Given the description of an element on the screen output the (x, y) to click on. 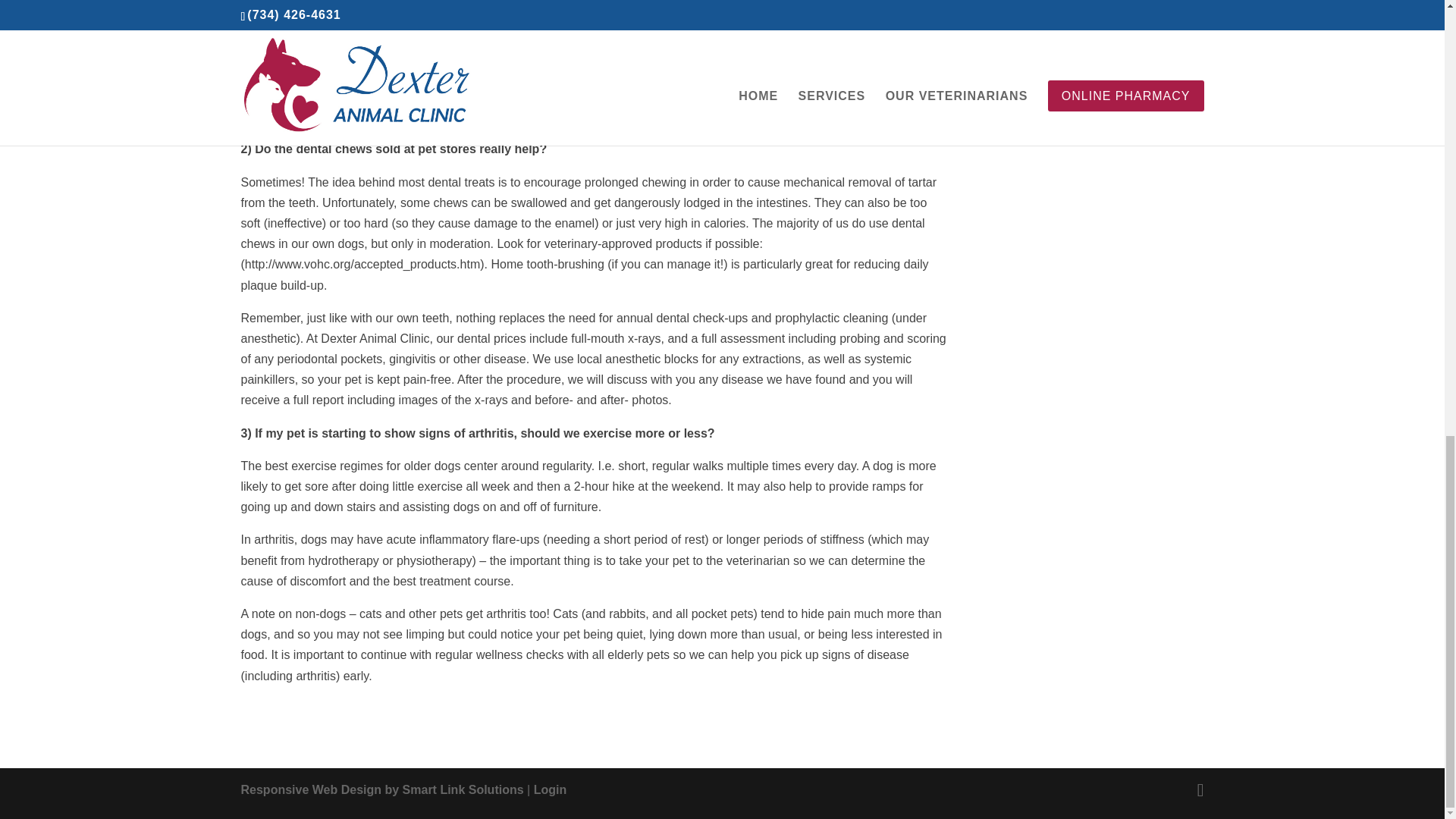
Login (550, 789)
Smart Link Solutions (382, 789)
Responsive Web Design by Smart Link Solutions (382, 789)
